Given the description of an element on the screen output the (x, y) to click on. 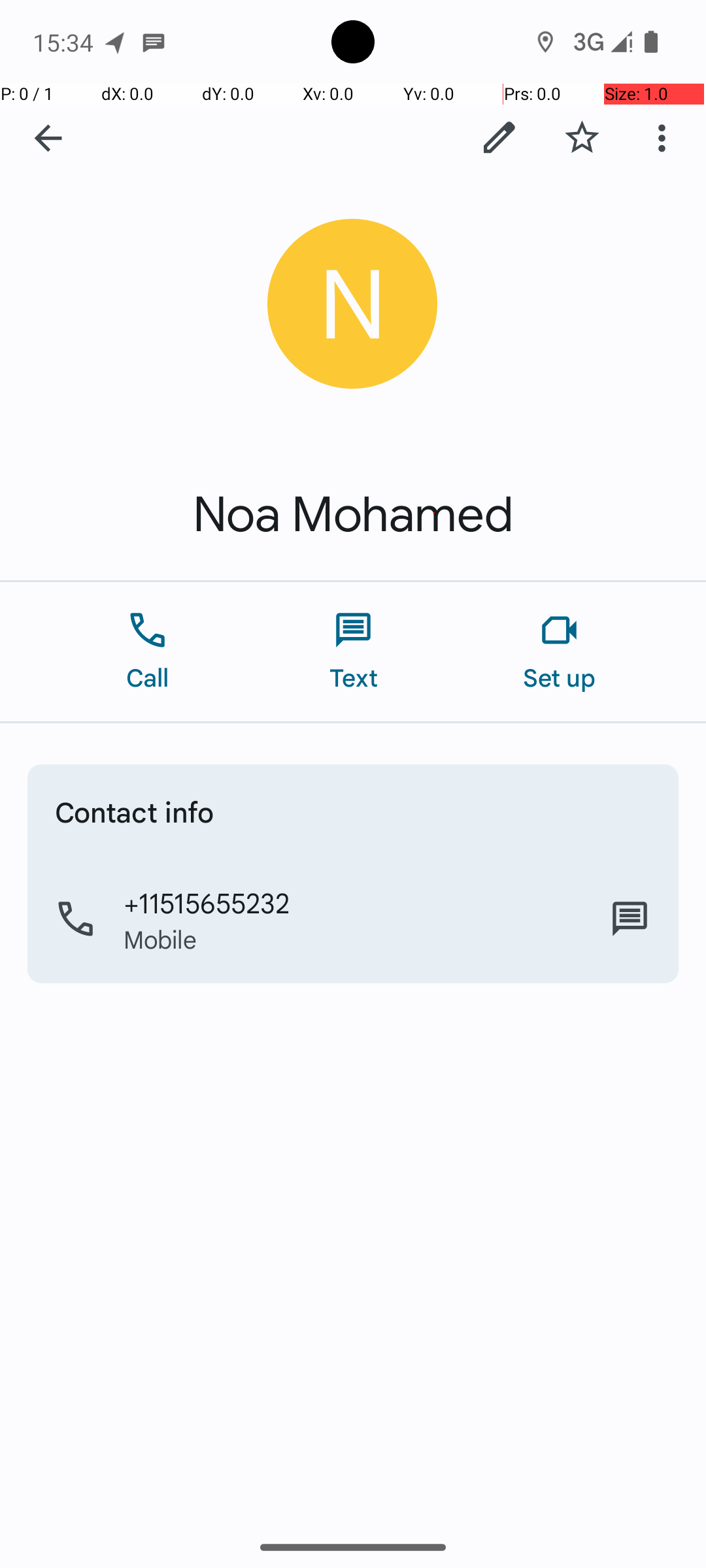
Edit contact Element type: android.widget.Button (498, 137)
Add to favorites Element type: android.widget.Button (581, 137)
Contact photo Element type: android.widget.ImageView (352, 303)
Call Element type: android.widget.TextView (147, 651)
Text Element type: android.widget.TextView (353, 651)
Set up Element type: android.widget.TextView (559, 651)
Noa Mohamed Element type: android.widget.TextView (352, 514)
Contact info Element type: android.widget.TextView (134, 811)
Call Mobile +11515655232 Element type: android.widget.RelativeLayout (352, 919)
+11515655232 Element type: android.widget.TextView (206, 901)
Mobile Element type: android.widget.TextView (160, 938)
Text Mobile +11515655232 Element type: android.widget.Button (629, 919)
SMS Messenger notification: Noa Mohamed Element type: android.widget.ImageView (153, 41)
